Given the description of an element on the screen output the (x, y) to click on. 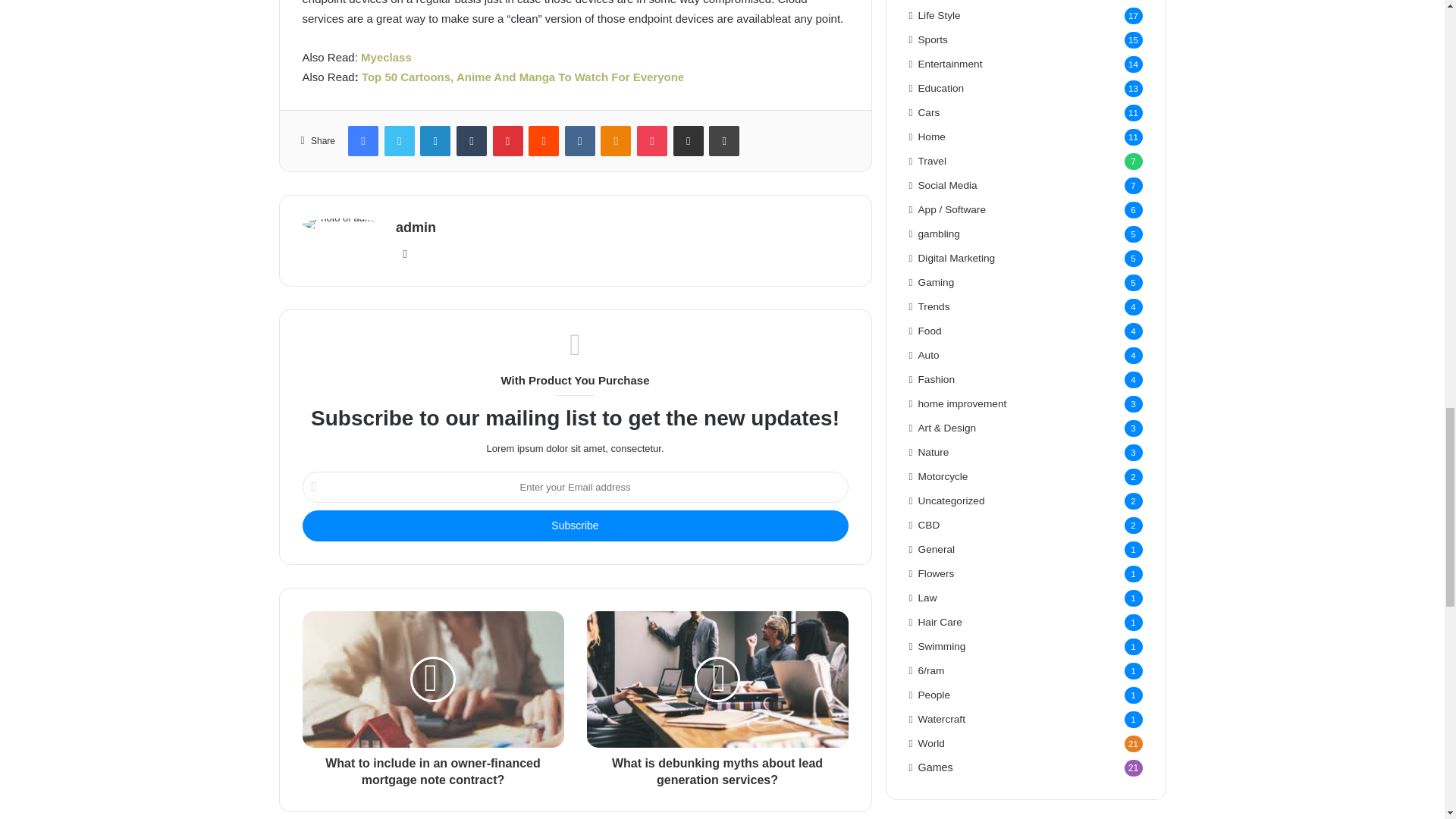
Subscribe (574, 525)
Myeclass (386, 56)
Top 50 Cartoons, Anime And Manga To Watch For Everyone (522, 76)
